Given the description of an element on the screen output the (x, y) to click on. 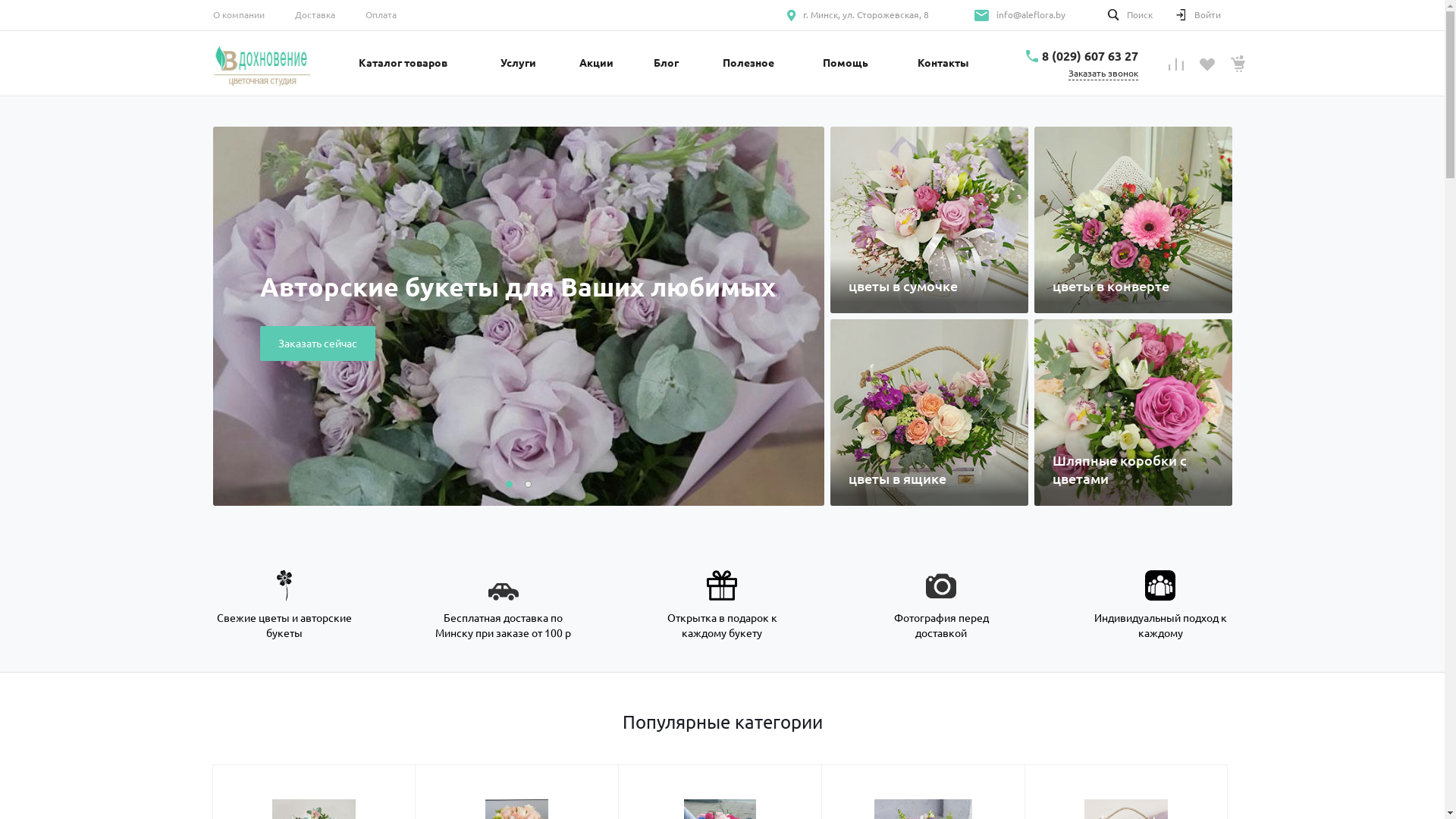
info@aleflora.by Element type: text (1030, 14)
logo 150 70 alt.jpg Element type: hover (261, 63)
8 (029) 607 63 27 Element type: text (1089, 56)
